Given the description of an element on the screen output the (x, y) to click on. 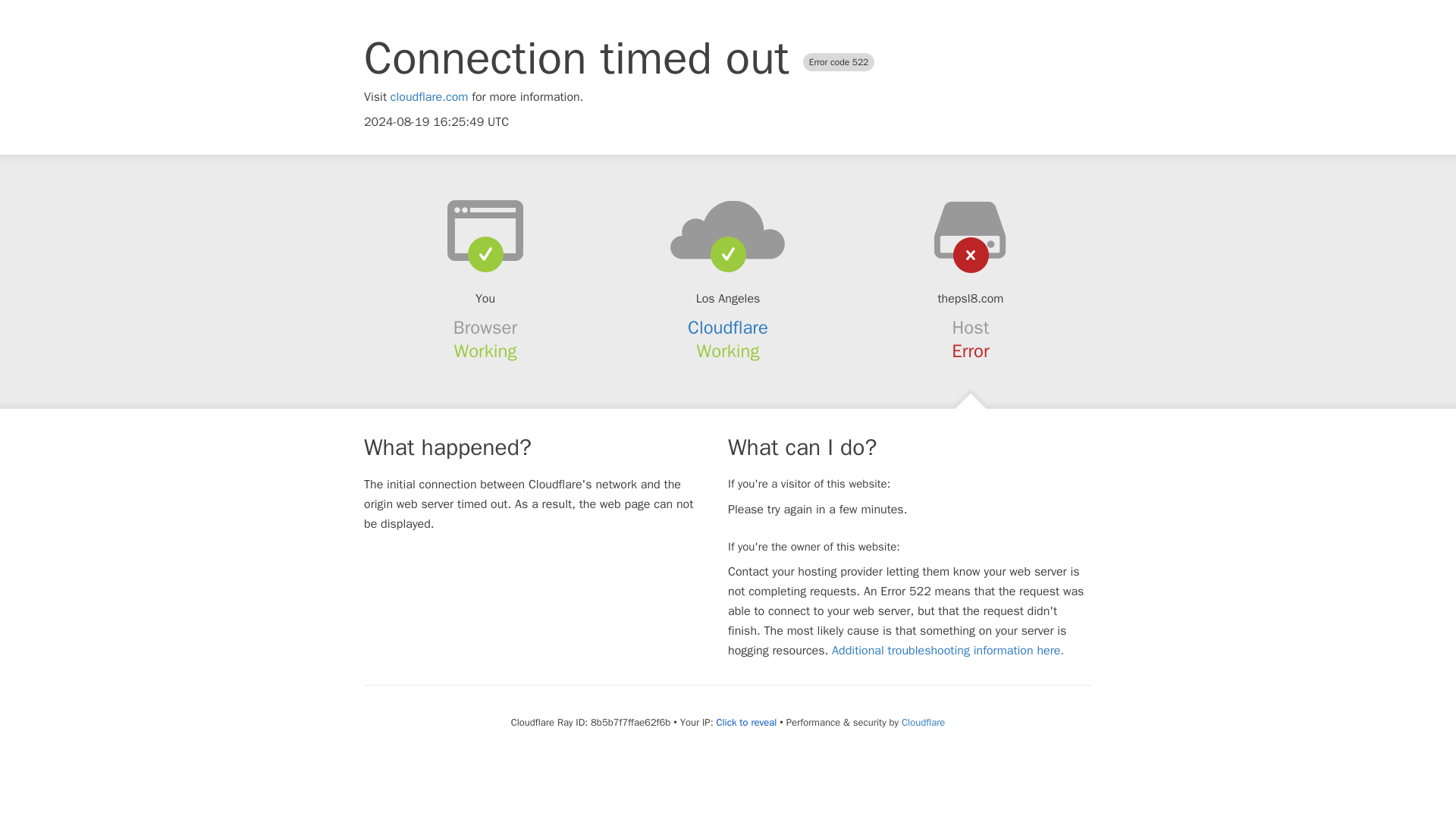
Cloudflare (922, 721)
Additional troubleshooting information here. (947, 650)
Click to reveal (746, 722)
cloudflare.com (429, 96)
Cloudflare (727, 327)
